Given the description of an element on the screen output the (x, y) to click on. 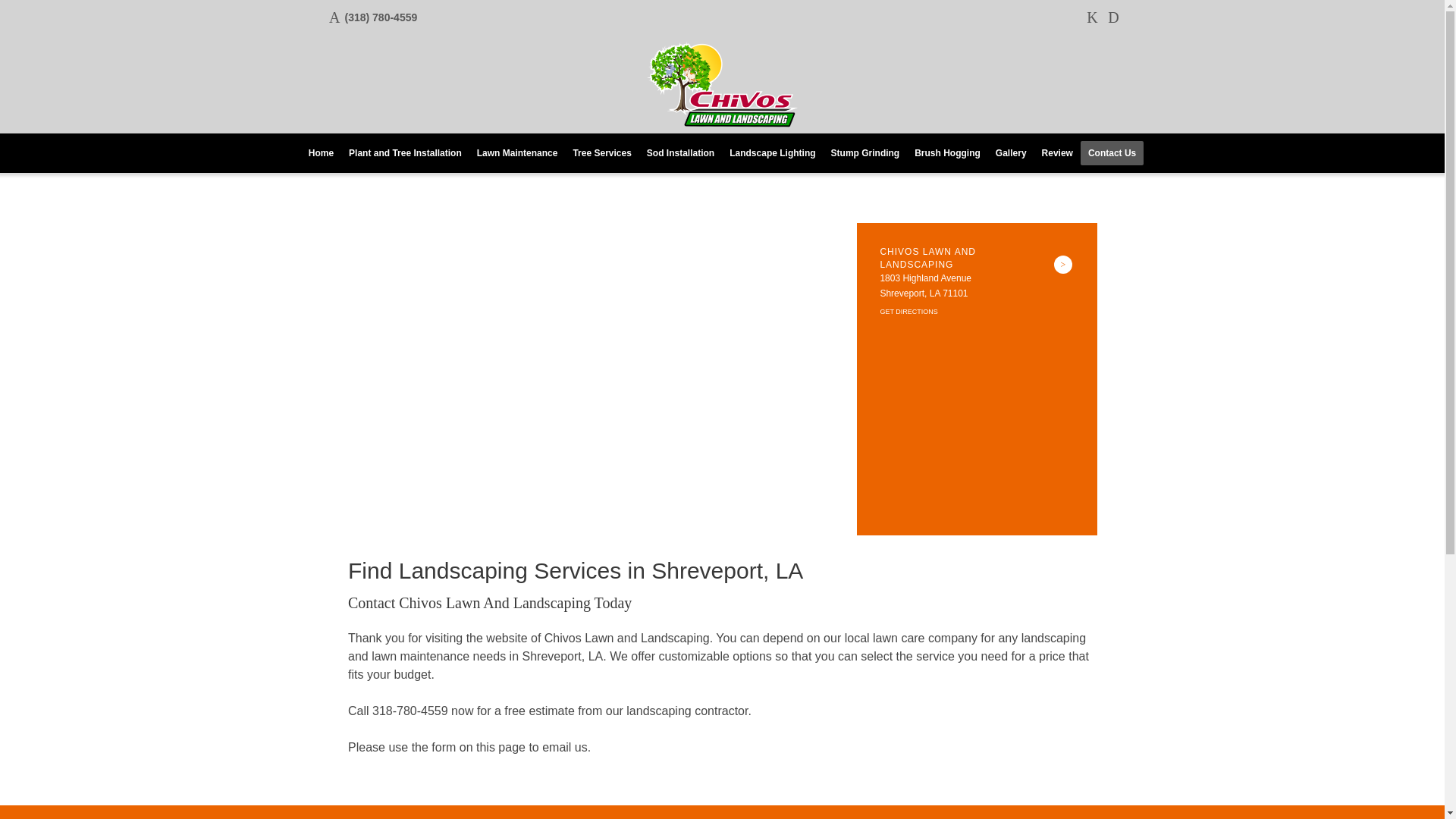
Lawn Maintenance (517, 152)
Gallery (1010, 152)
Contact Us (1111, 152)
Google (1113, 17)
Plant and Tree Installation (404, 152)
Facebook (1091, 17)
Brush Hogging (947, 152)
Stump Grinding (865, 152)
See Details (1062, 264)
Sod Installation (680, 152)
